Given the description of an element on the screen output the (x, y) to click on. 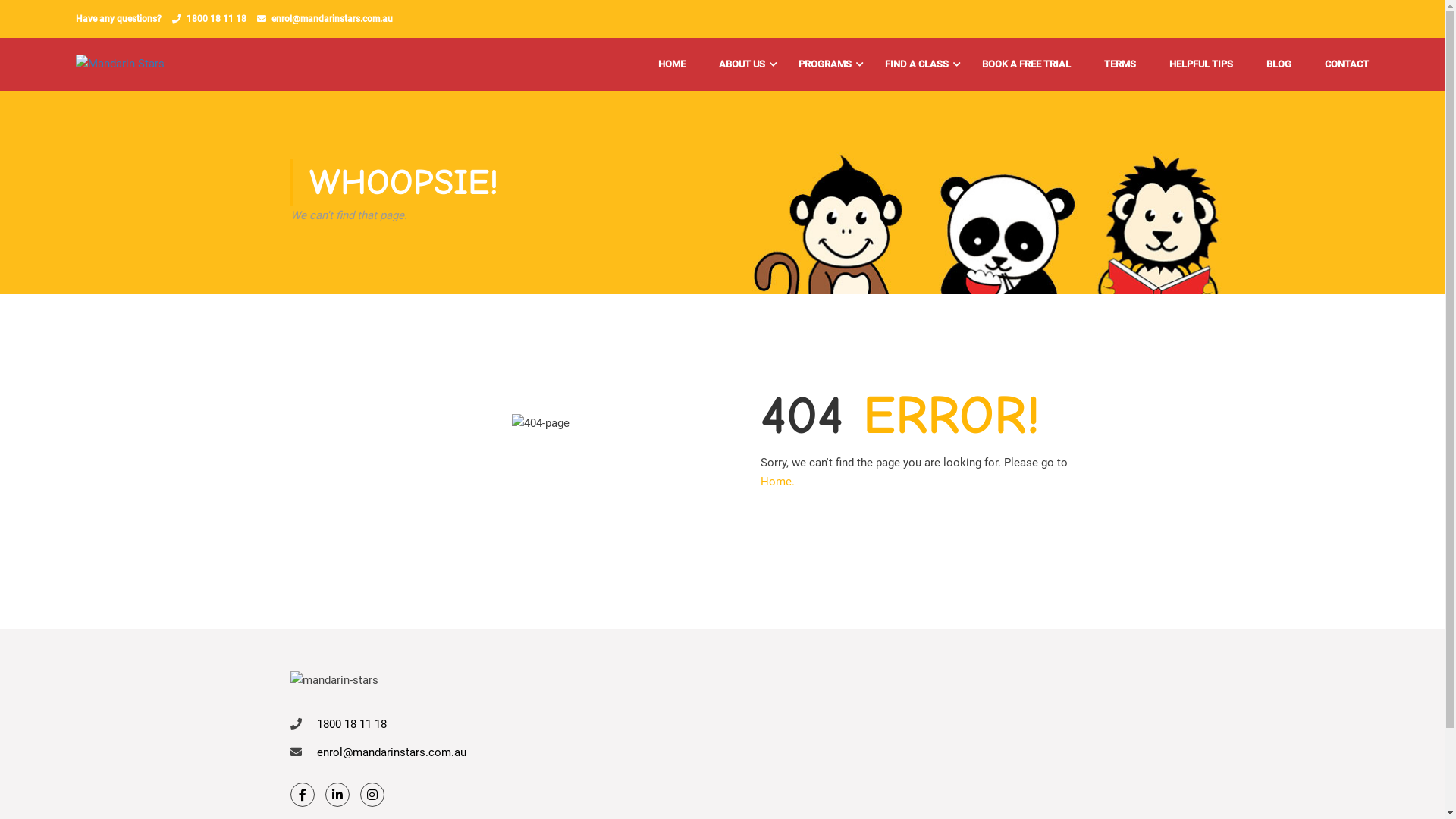
HOME Element type: text (671, 64)
CONTACT Element type: text (1338, 64)
FIND A CLASS Element type: text (916, 64)
enrol@mandarinstars.com.au Element type: text (331, 18)
ABOUT US Element type: text (741, 64)
BLOG Element type: text (1278, 64)
PROGRAMS Element type: text (824, 64)
BOOK A FREE TRIAL Element type: text (1025, 64)
Home. Element type: text (776, 481)
1800 18 11 18 Element type: text (351, 724)
TERMS Element type: text (1119, 64)
enrol@mandarinstars.com.au Element type: text (391, 752)
Mandarin Stars - Fun Mandarin Chinese Element type: hover (139, 64)
HELPFUL TIPS Element type: text (1201, 64)
